Given the description of an element on the screen output the (x, y) to click on. 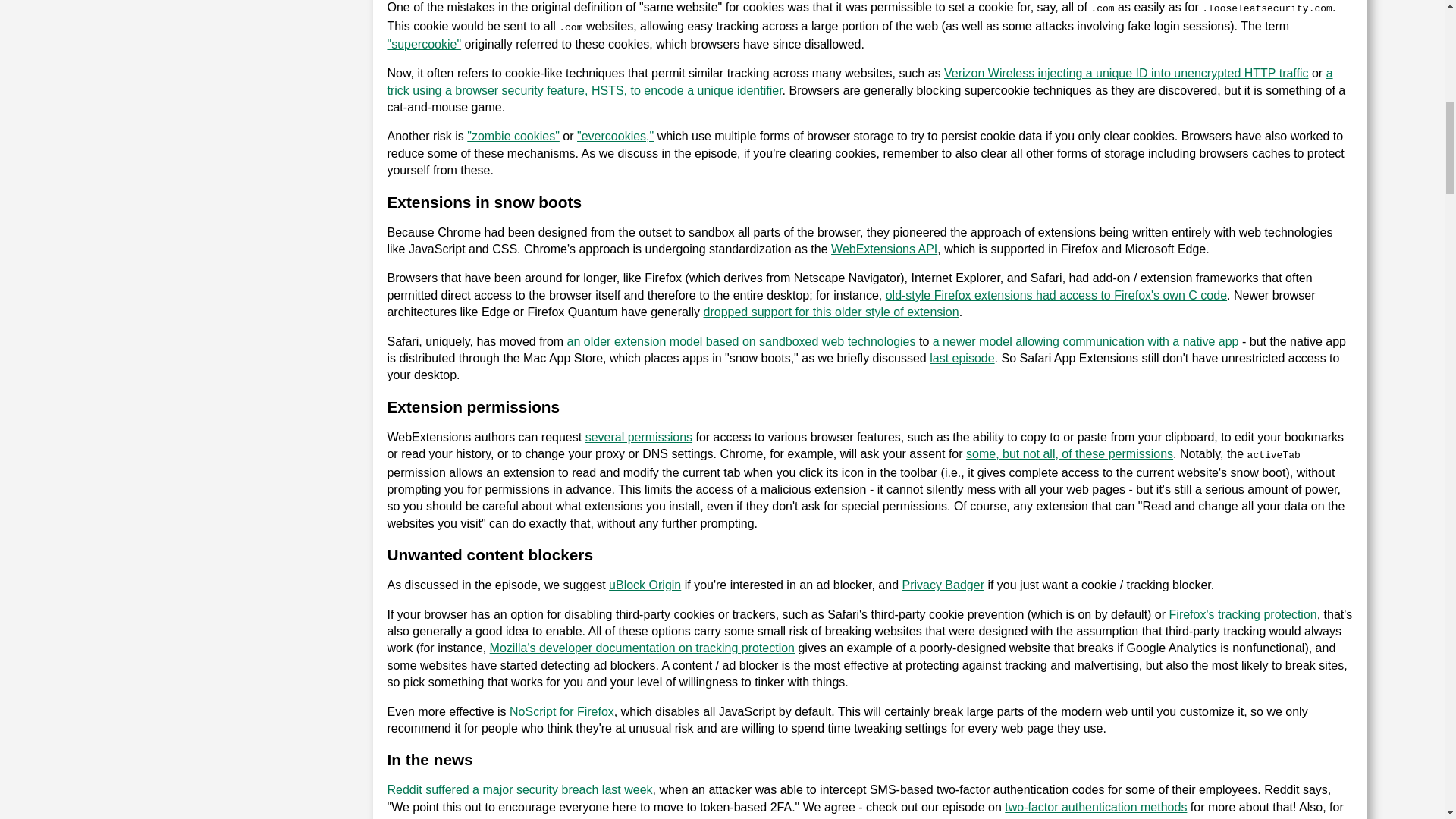
NoScript for Firefox (561, 711)
Privacy Badger (942, 584)
an older extension model based on sandboxed web technologies (741, 341)
uBlock Origin (644, 584)
a newer model allowing communication with a native app (1086, 341)
Firefox's tracking protection (1243, 614)
WebExtensions API (884, 248)
last episode (962, 358)
"evercookies," (614, 135)
Reddit suffered a major security breach last week (519, 789)
dropped support for this older style of extension (831, 311)
